Given the description of an element on the screen output the (x, y) to click on. 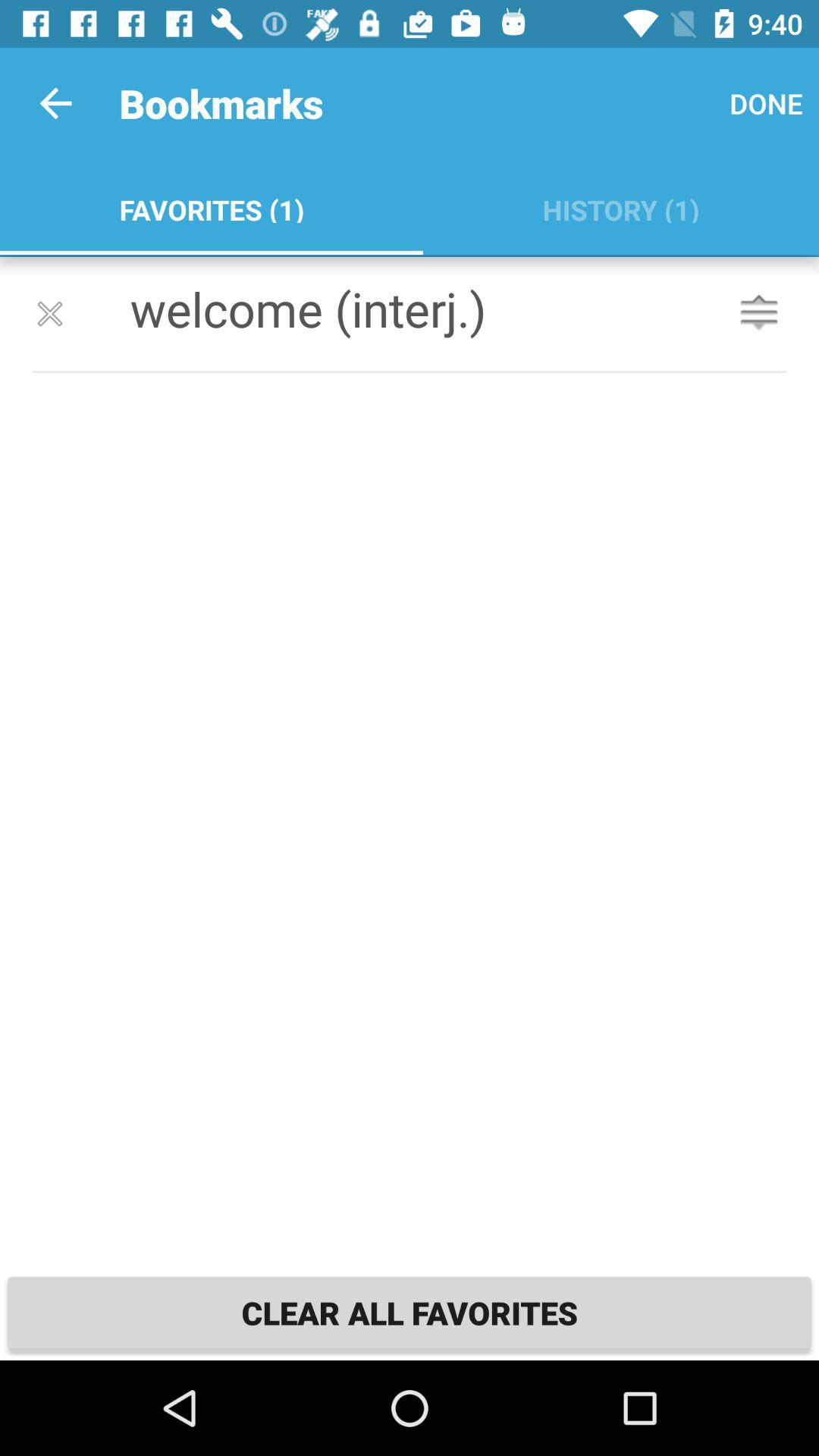
flip until clear all favorites item (409, 1312)
